Given the description of an element on the screen output the (x, y) to click on. 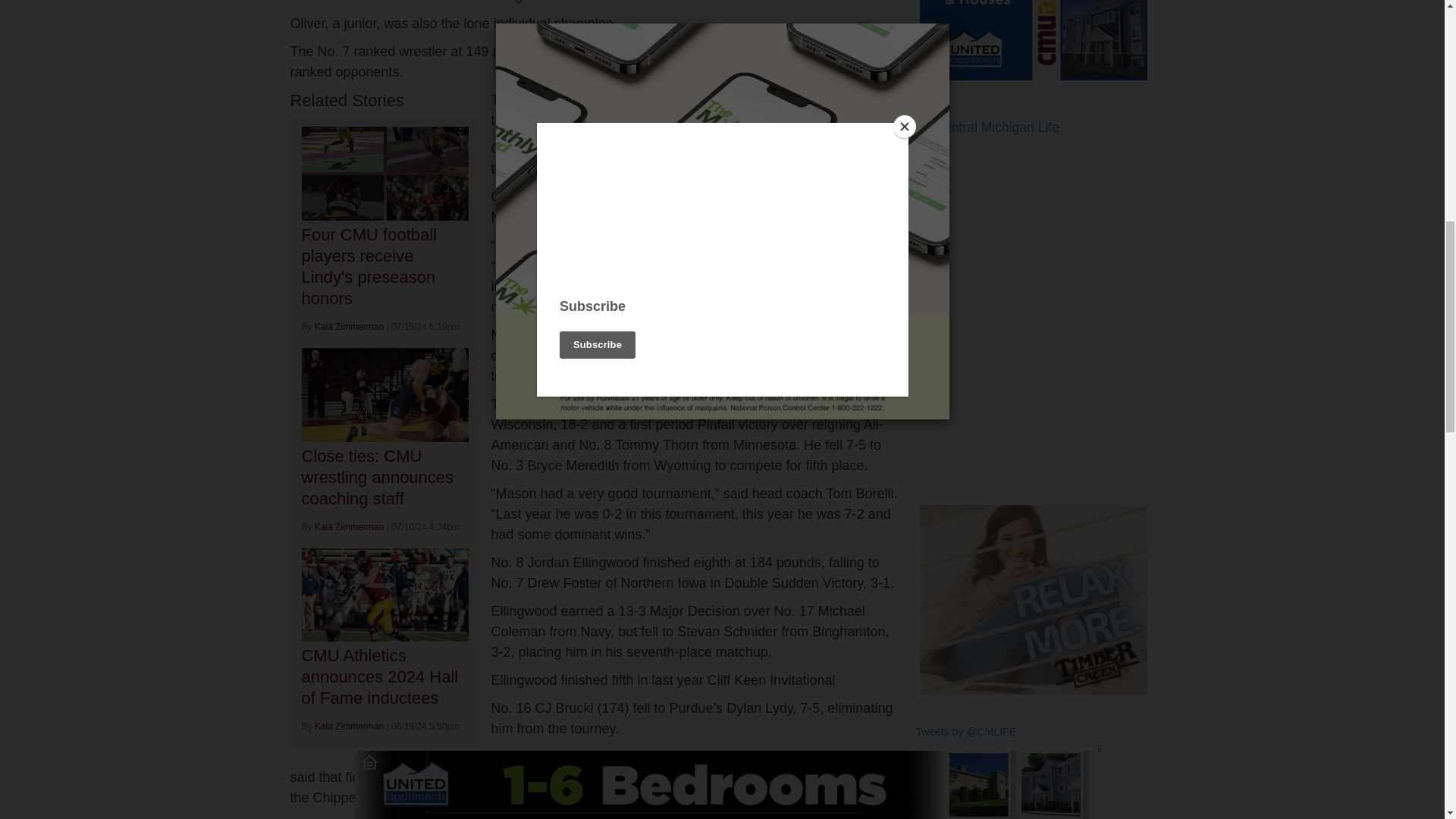
PrincetonManagement.com (1032, 599)
CMUApts.com (1032, 40)
